Given the description of an element on the screen output the (x, y) to click on. 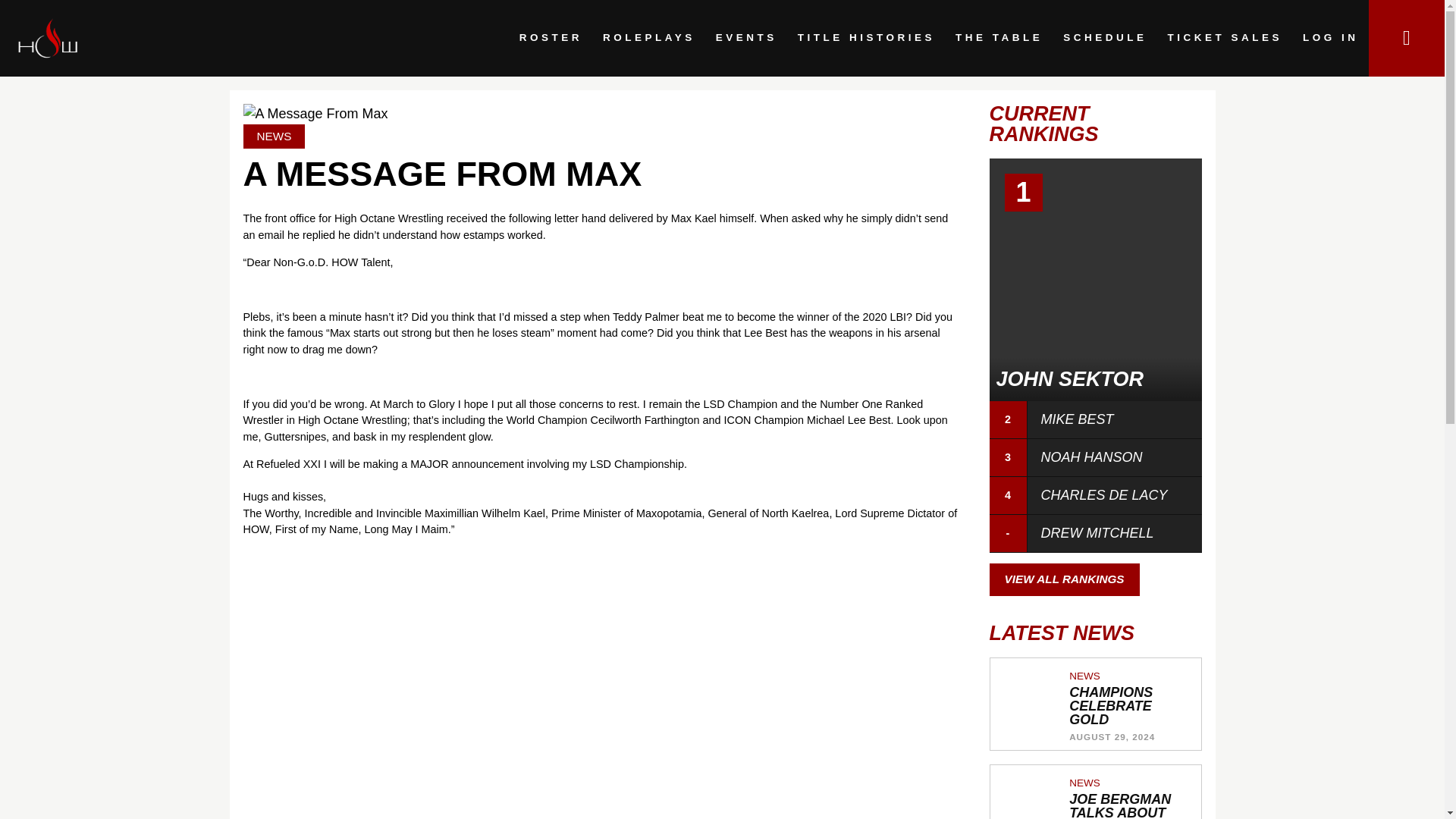
LOG IN (1330, 38)
ROSTER (550, 38)
ROLEPLAYS (648, 38)
TICKET SALES (1224, 38)
TITLE HISTORIES (865, 38)
EVENTS (745, 38)
SCHEDULE (1104, 38)
THE TABLE (998, 38)
